Given the description of an element on the screen output the (x, y) to click on. 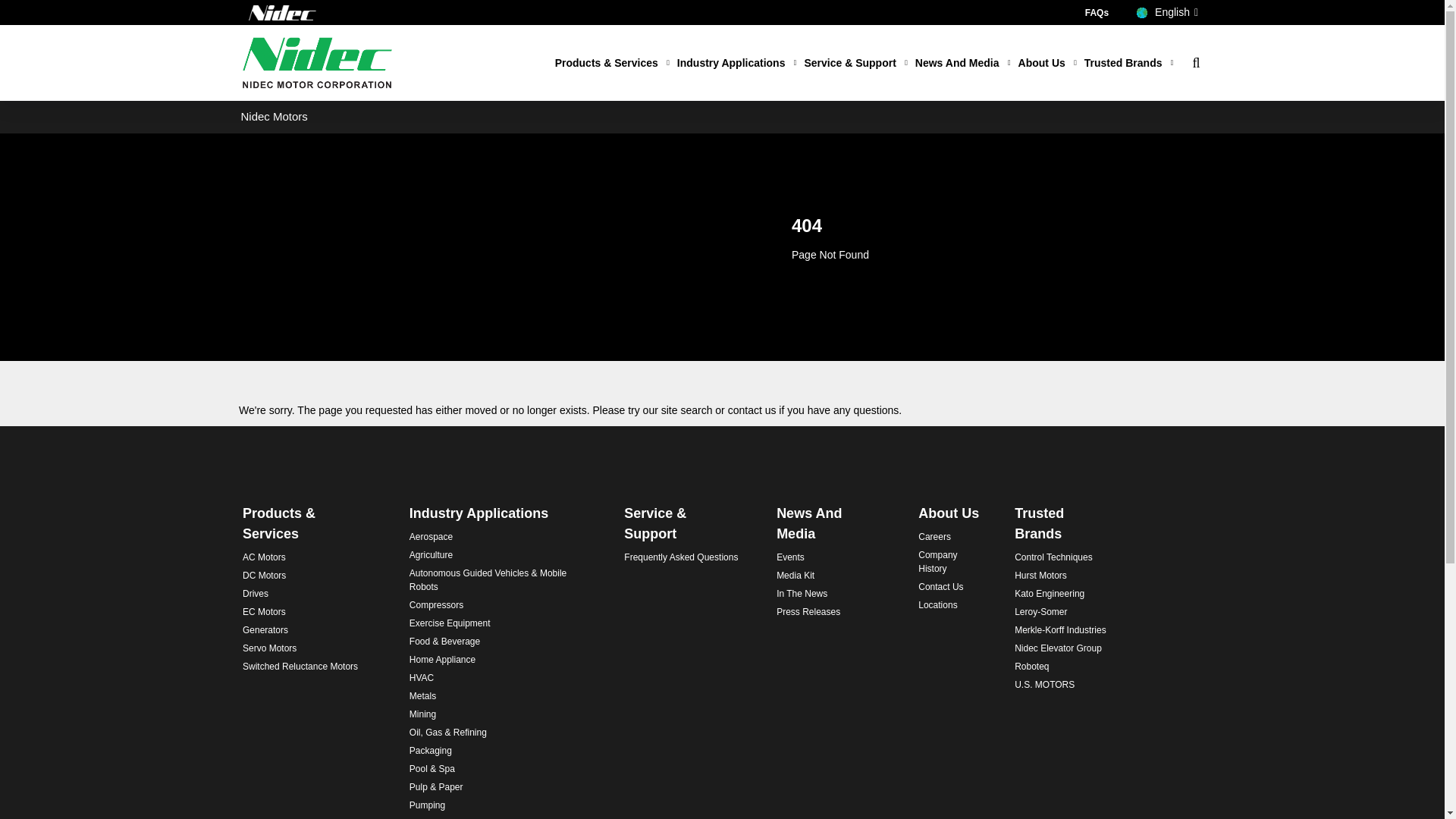
English (1168, 12)
FAQs (1096, 12)
Logo (282, 11)
BrandLogo (317, 62)
Products and Services (611, 63)
